Given the description of an element on the screen output the (x, y) to click on. 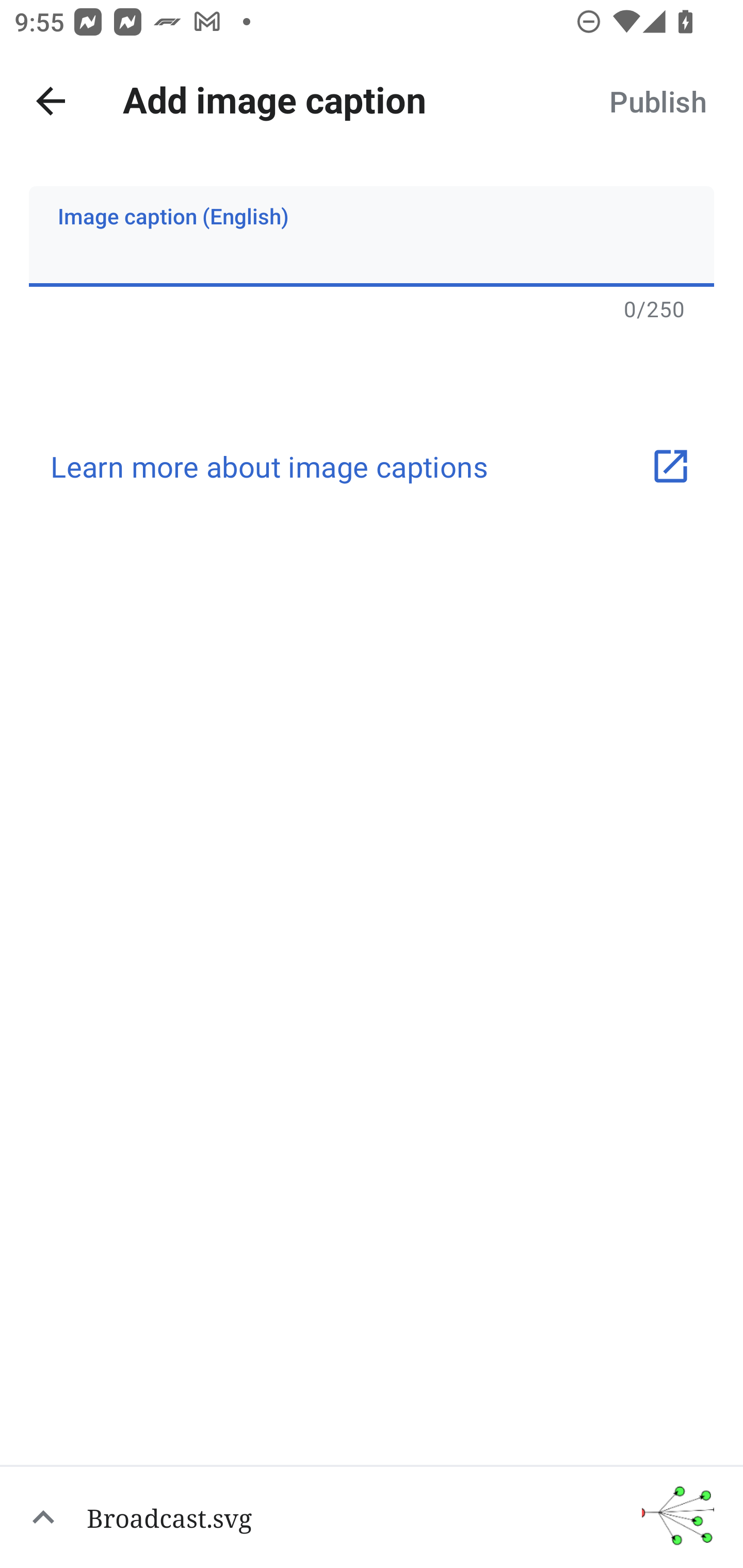
Cancel (50, 101)
Publish (657, 101)
Image caption (English) (371, 236)
Learn more about image captions (371, 466)
Broadcast.svg (371, 1516)
